Given the description of an element on the screen output the (x, y) to click on. 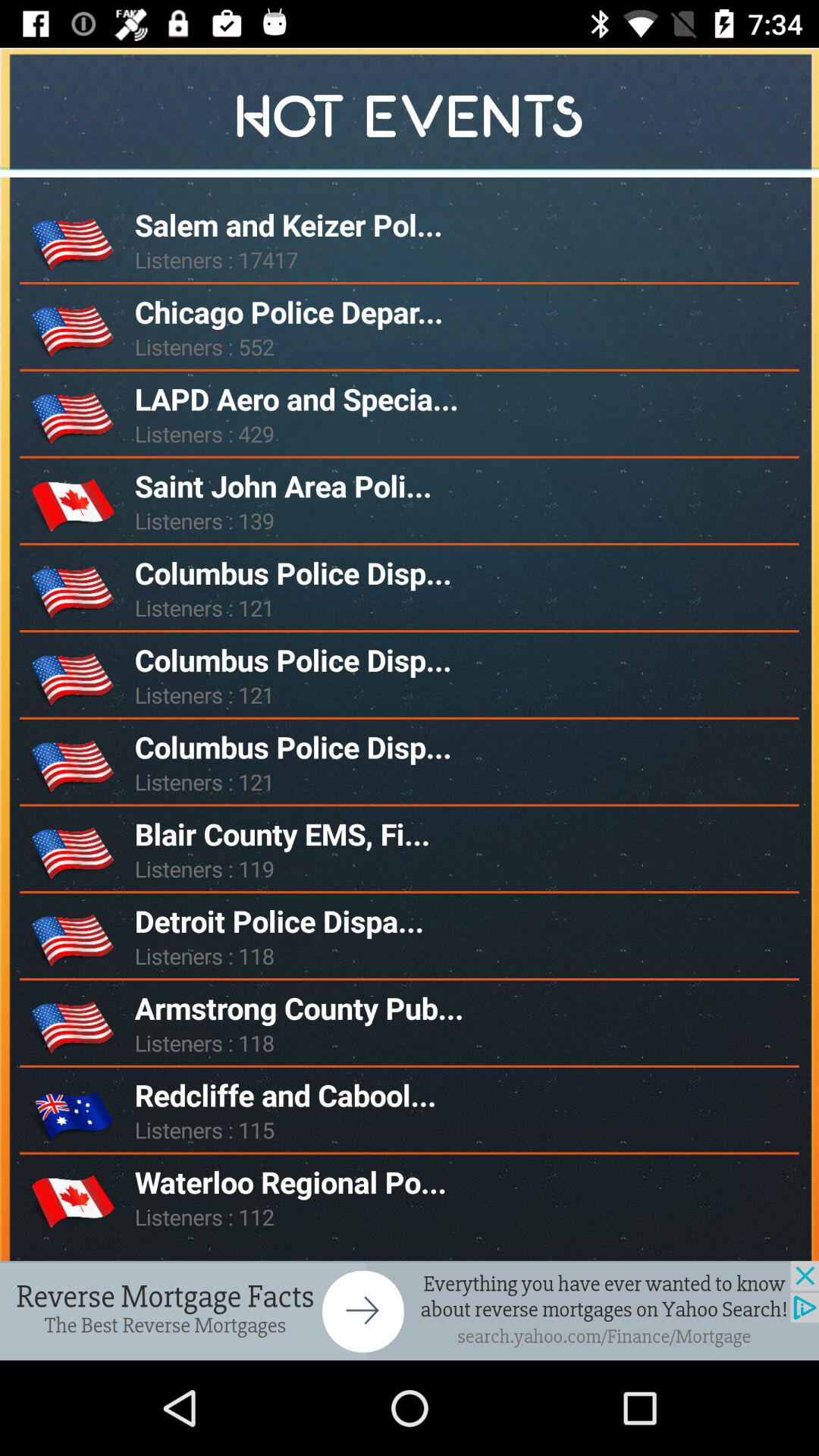
advertisement for reverse mortgage (409, 1310)
